Given the description of an element on the screen output the (x, y) to click on. 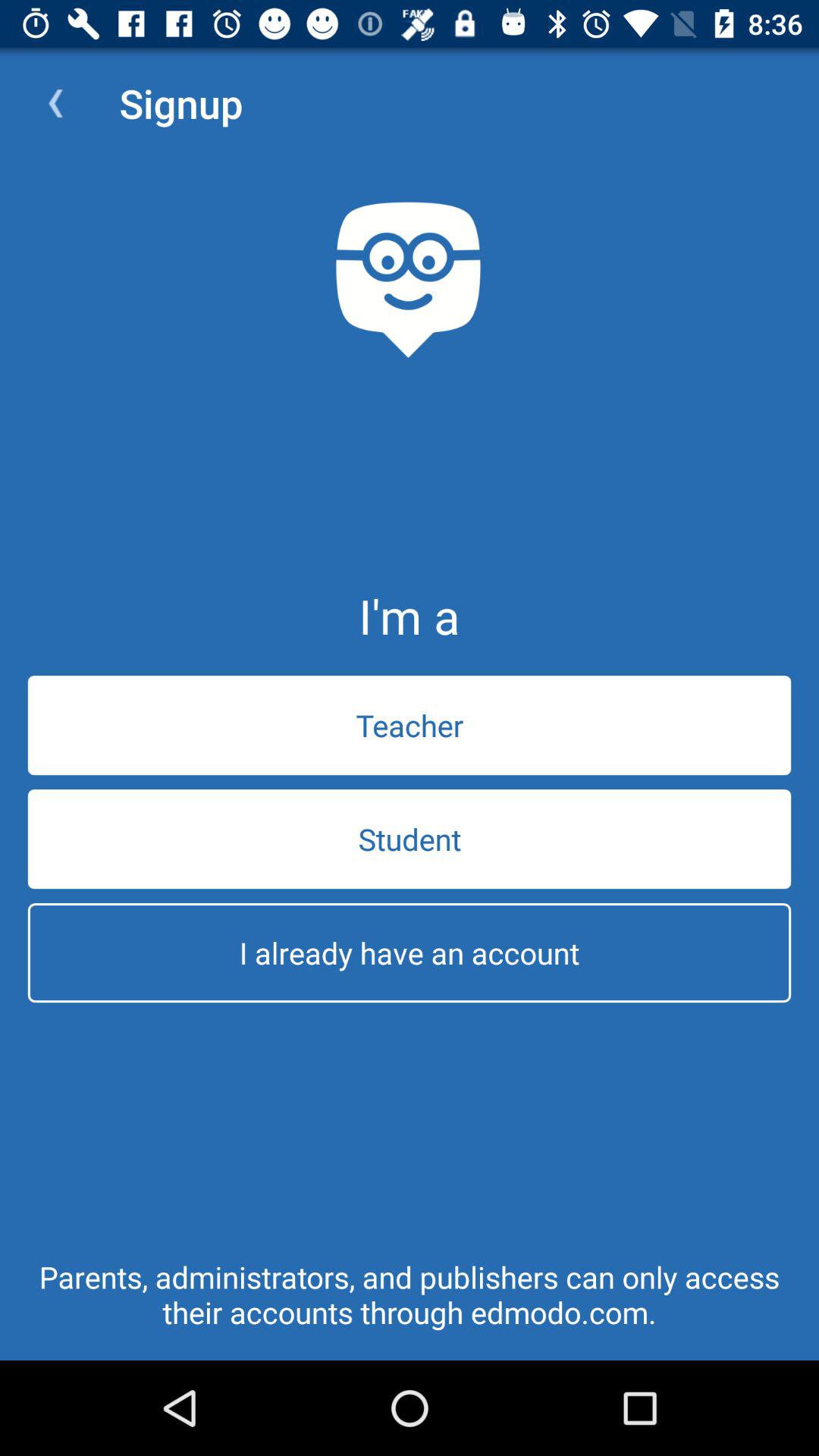
select item to the left of the signup app (55, 103)
